Given the description of an element on the screen output the (x, y) to click on. 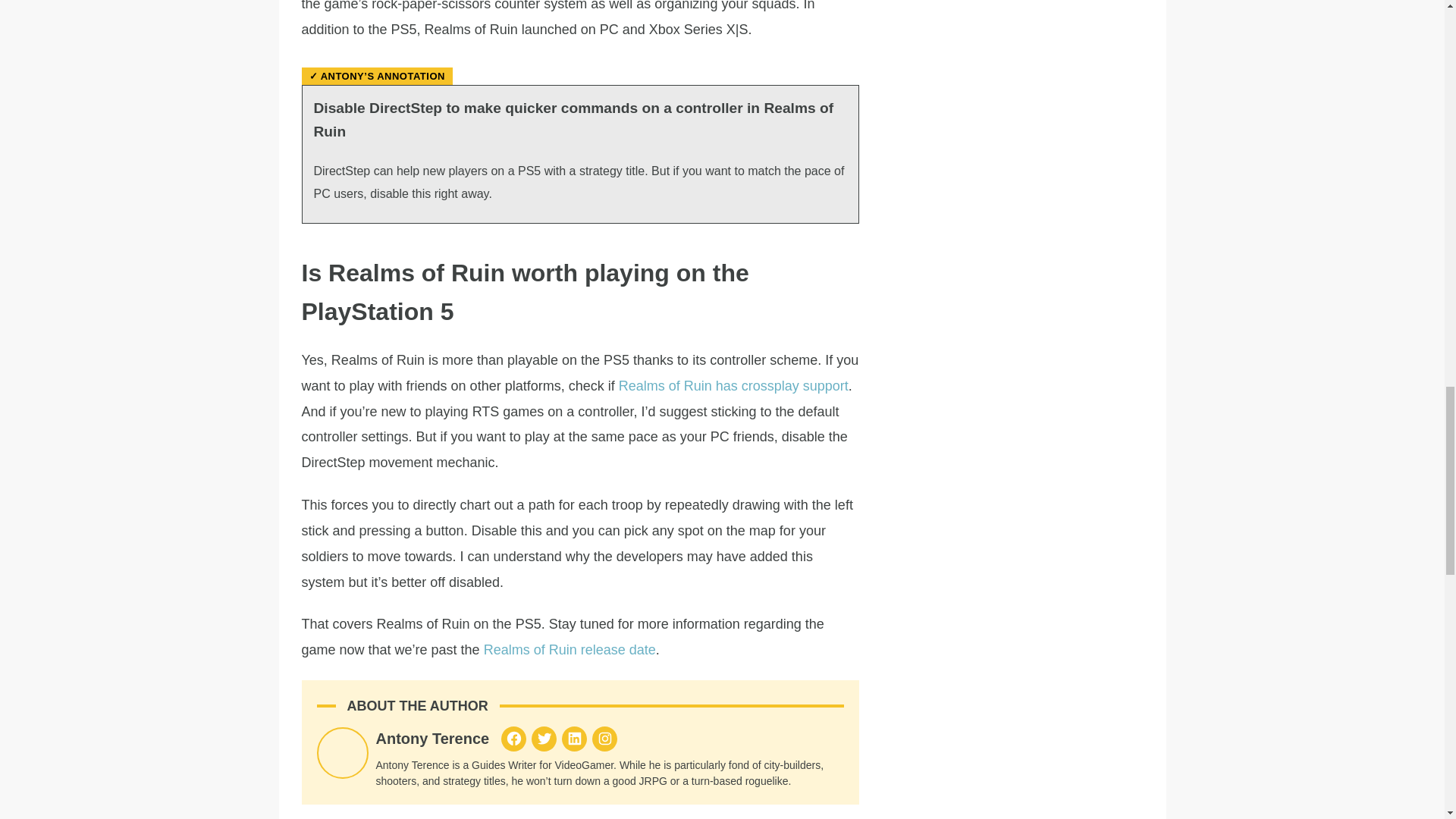
Realms of Ruin has crossplay support (733, 385)
Antony Terence (432, 738)
Realms of Ruin release date (569, 649)
